Given the description of an element on the screen output the (x, y) to click on. 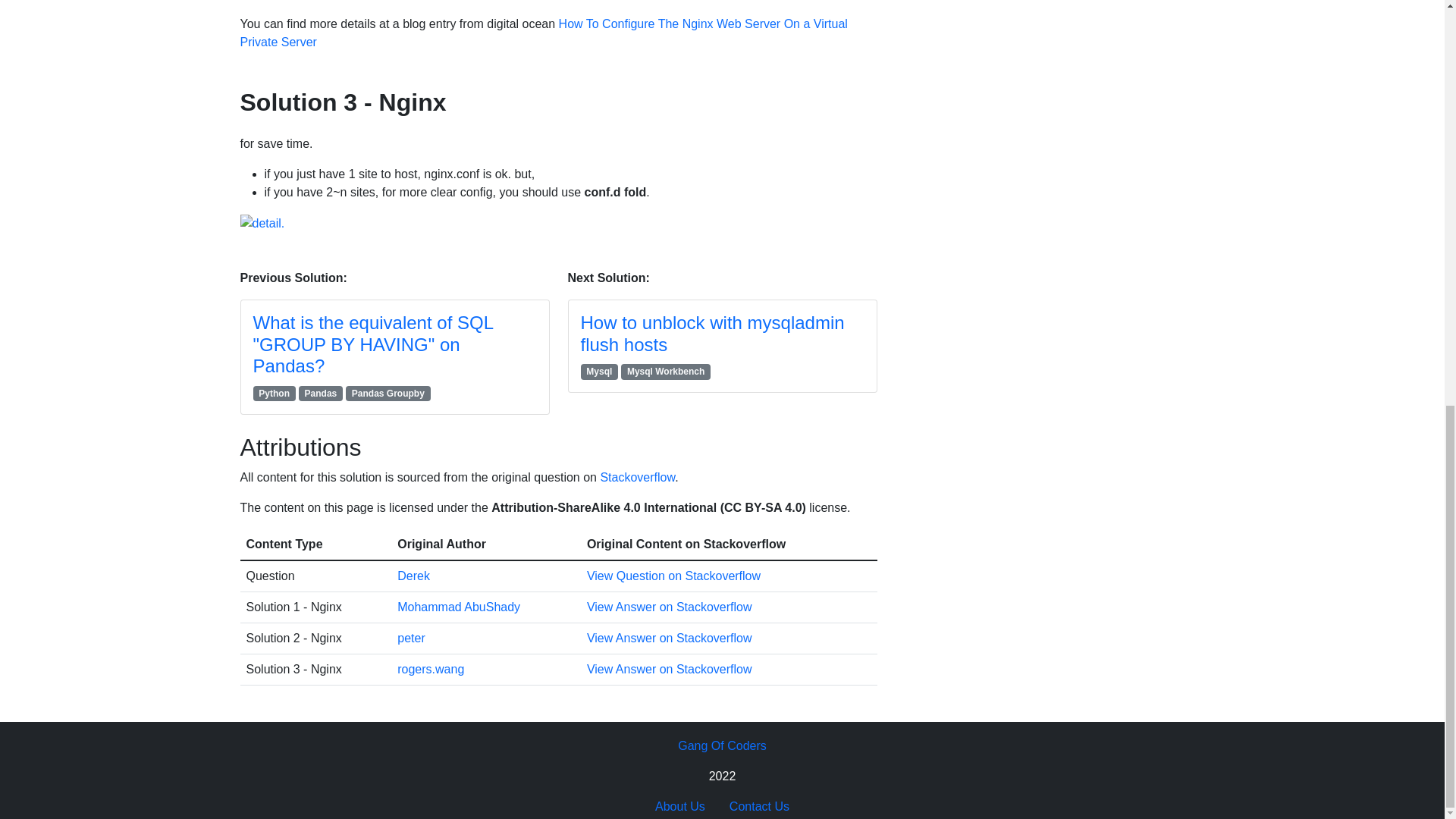
Python (274, 393)
View Answer on Stackoverflow (669, 668)
Mysql (599, 371)
View Answer on Stackoverflow (669, 636)
Mysql Workbench (665, 371)
Gang Of Coders (722, 744)
Stackoverflow (637, 476)
View Question on Stackoverflow (673, 574)
What is the equivalent of SQL "GROUP BY HAVING" on Pandas? (373, 344)
